Given the description of an element on the screen output the (x, y) to click on. 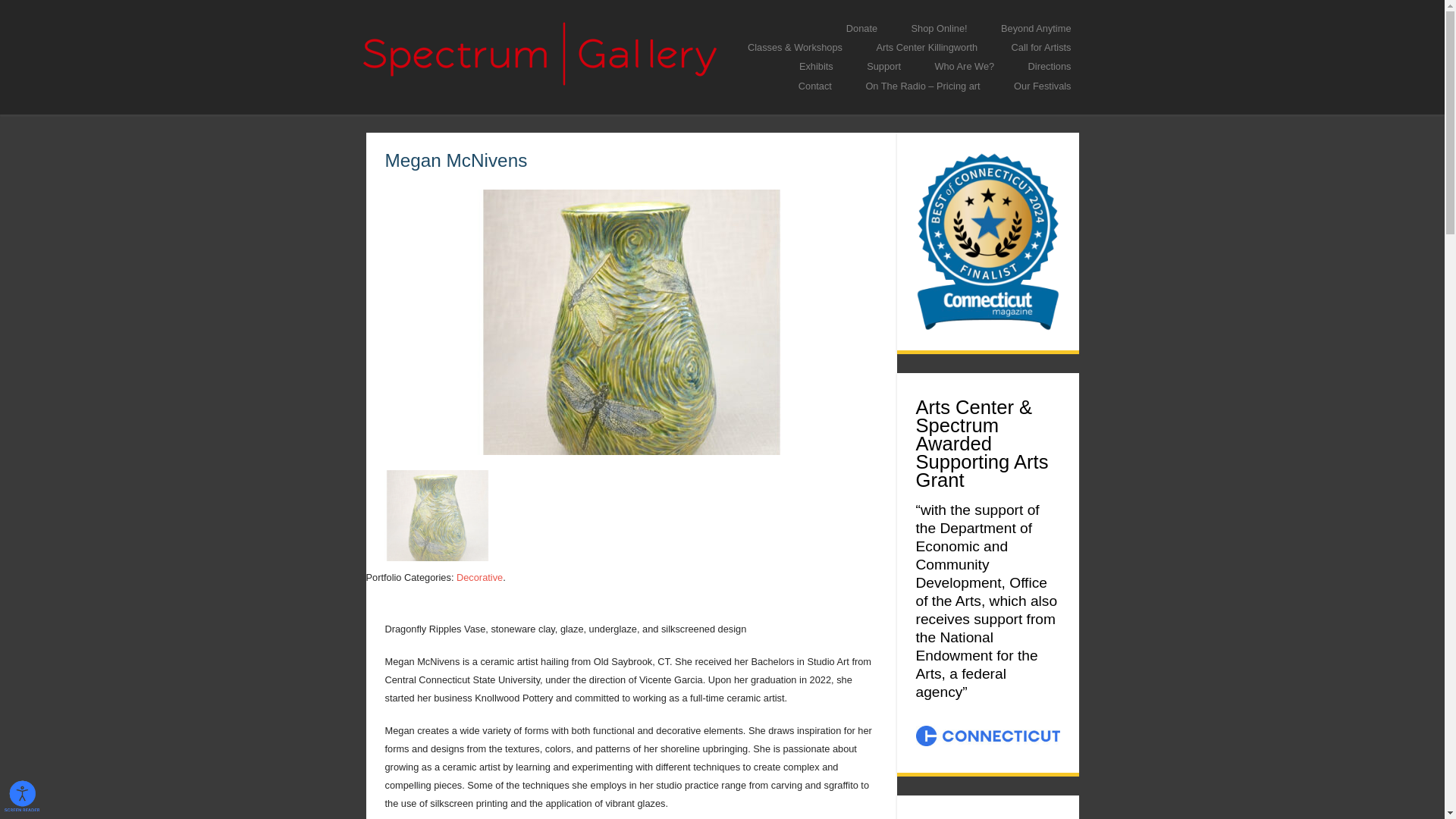
Spectrum Gallery (446, 107)
Call for Artists (1040, 46)
Arts Center Killingworth (926, 46)
Beyond Anytime (1035, 27)
Skip to content (769, 27)
Shop Online! (939, 27)
Open accessibility tools (22, 796)
Donate (861, 27)
